Given the description of an element on the screen output the (x, y) to click on. 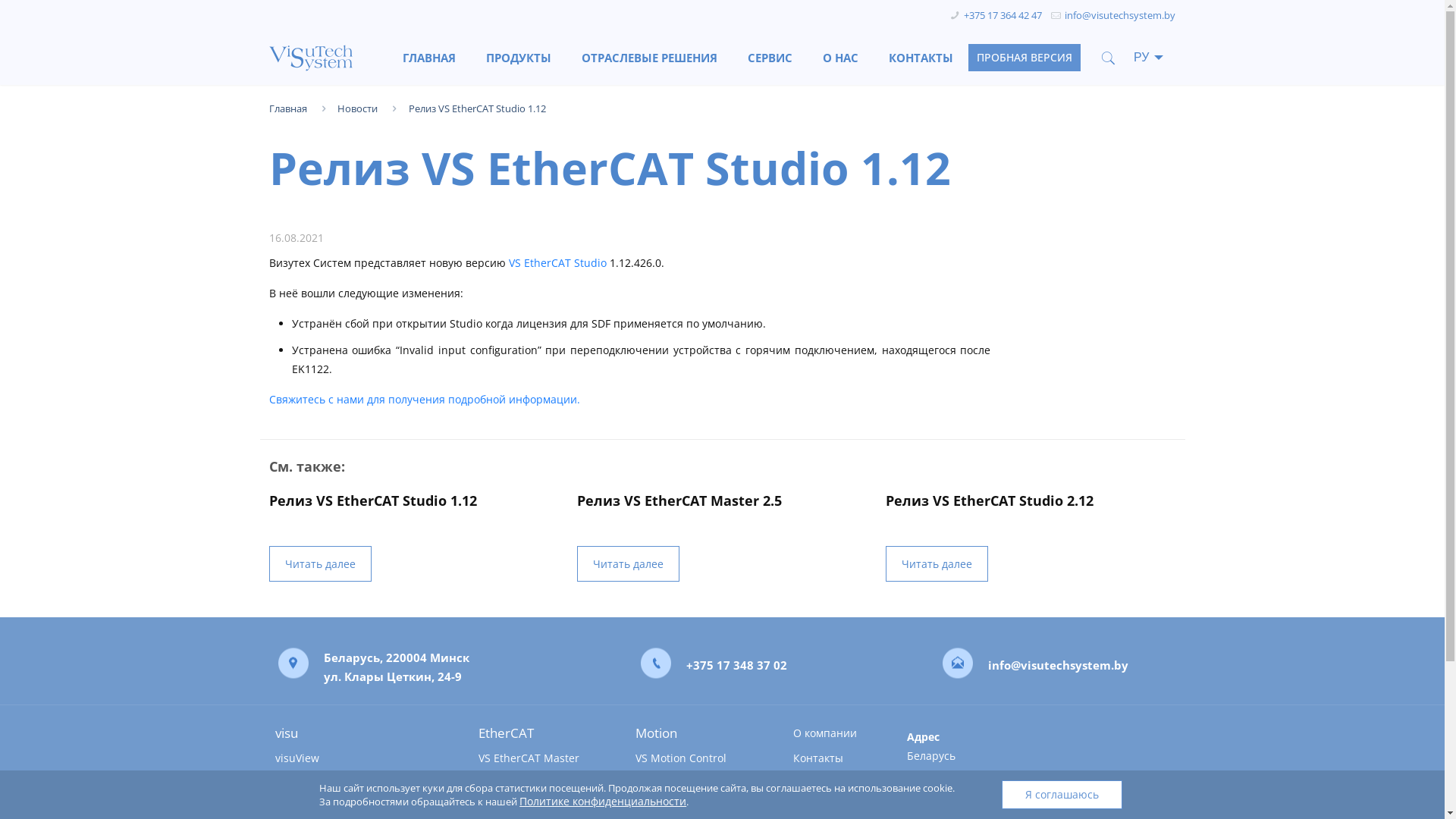
VS EtherCAT Slave Element type: text (539, 782)
Motion Element type: text (696, 732)
visu Element type: text (359, 732)
VS Motion Proxy Element type: text (696, 782)
VS EtherCAT Studio Element type: text (557, 262)
Visutech System Element type: hover (316, 57)
info@visutechsystem.by Element type: text (1119, 14)
visuServer Element type: text (359, 782)
+375 17 364 42 47 Element type: text (1002, 14)
visuView Element type: text (359, 757)
EtherCAT Element type: text (539, 732)
info@visutechsystem.by Element type: text (1058, 663)
+375 17 348 37 02 Element type: text (736, 663)
VS Motion Control Element type: text (696, 757)
VS EtherCAT Master Element type: text (539, 757)
